Given the description of an element on the screen output the (x, y) to click on. 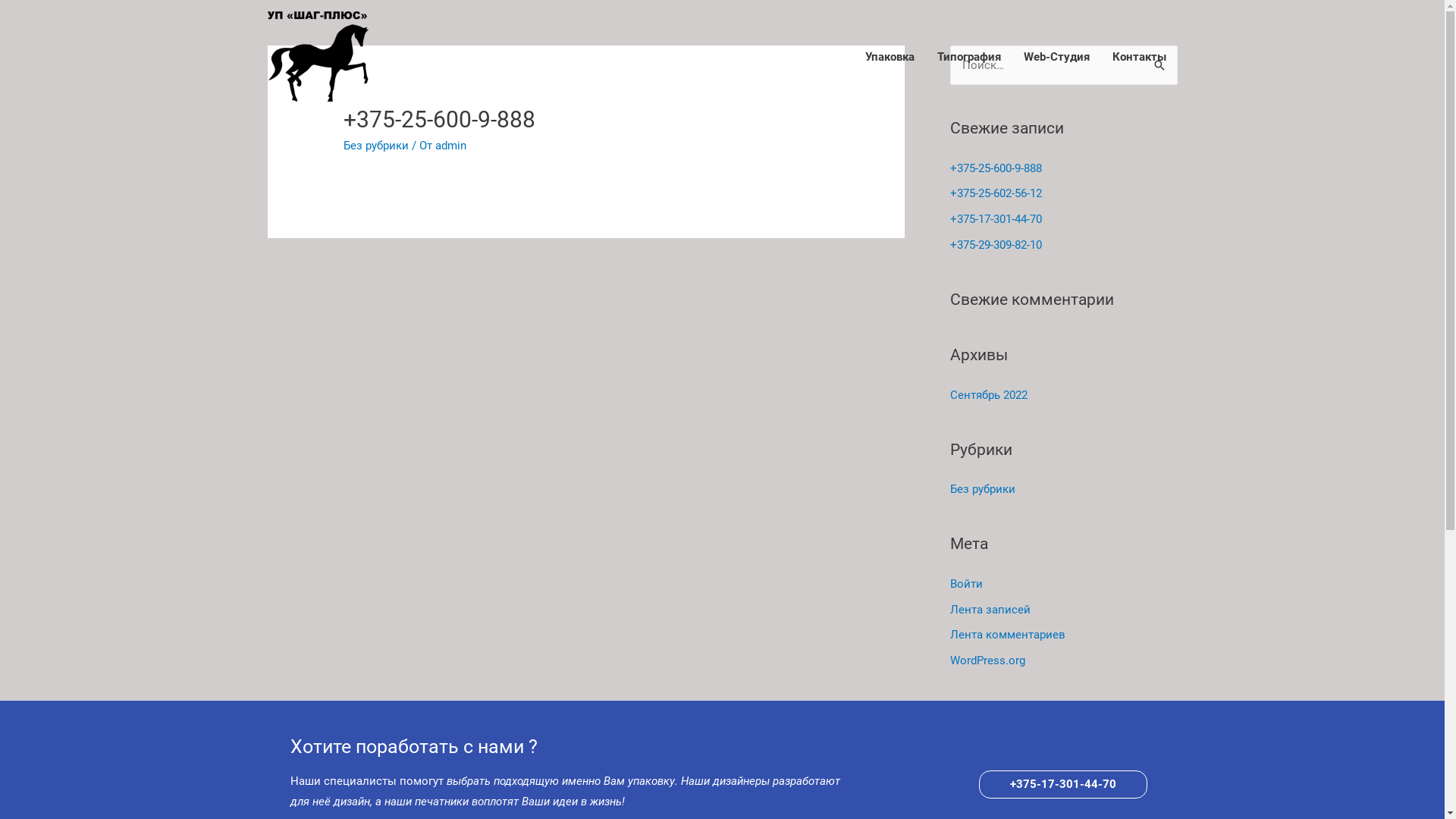
admin Element type: text (450, 145)
+375-25-600-9-888 Element type: text (995, 167)
+375-29-309-82-10 Element type: text (995, 244)
+375-25-602-56-12 Element type: text (995, 193)
WordPress.org Element type: text (986, 660)
+375-17-301-44-70 Element type: text (995, 218)
+375-17-301-44-70 Element type: text (1062, 784)
